Given the description of an element on the screen output the (x, y) to click on. 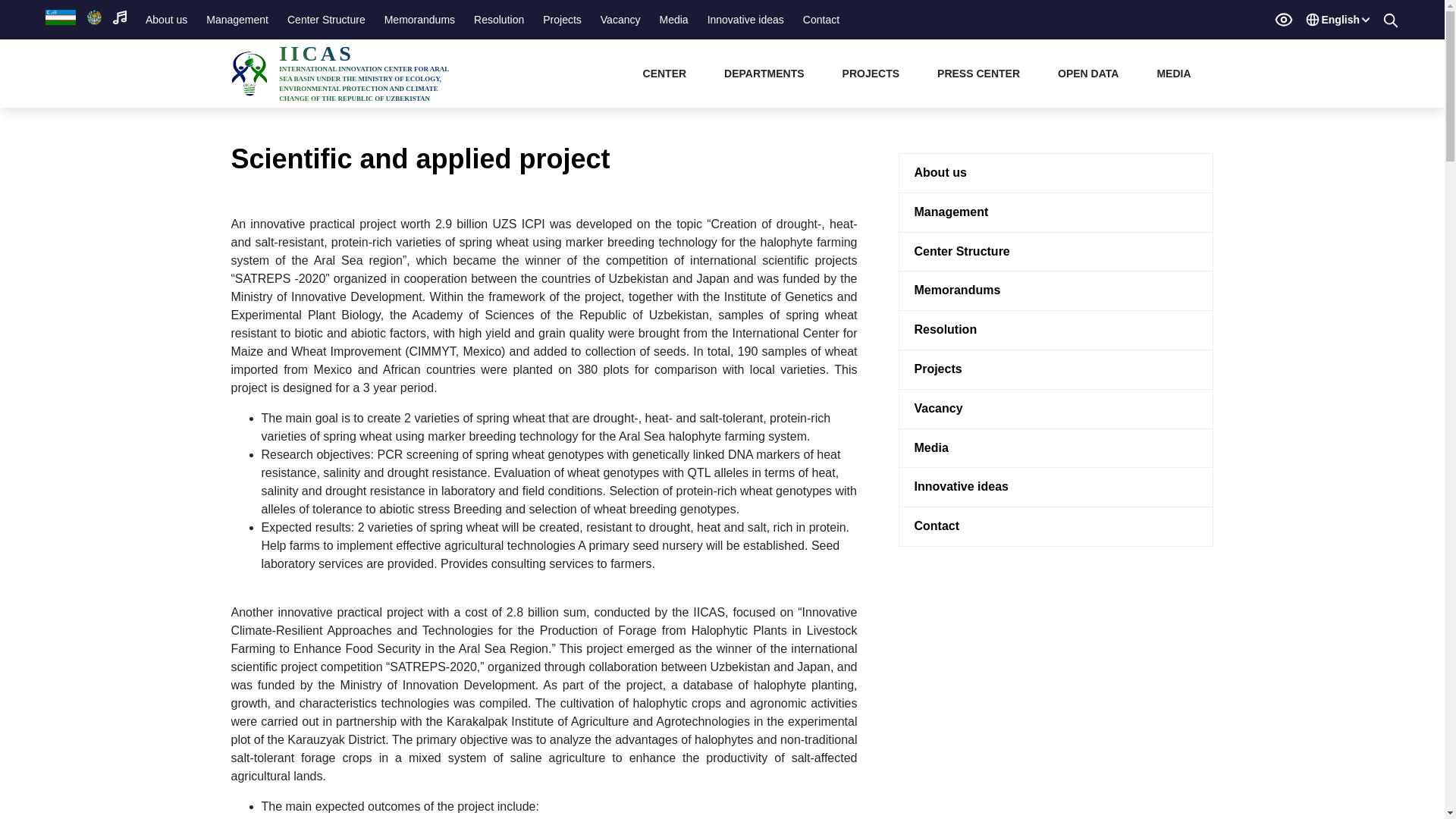
Media (672, 19)
PROJECTS (876, 73)
Memorandums (420, 19)
CENTER (670, 73)
Innovative ideas (746, 19)
Center Structure (325, 19)
Management (237, 19)
Vacancy (619, 19)
Resolution (498, 19)
